Given the description of an element on the screen output the (x, y) to click on. 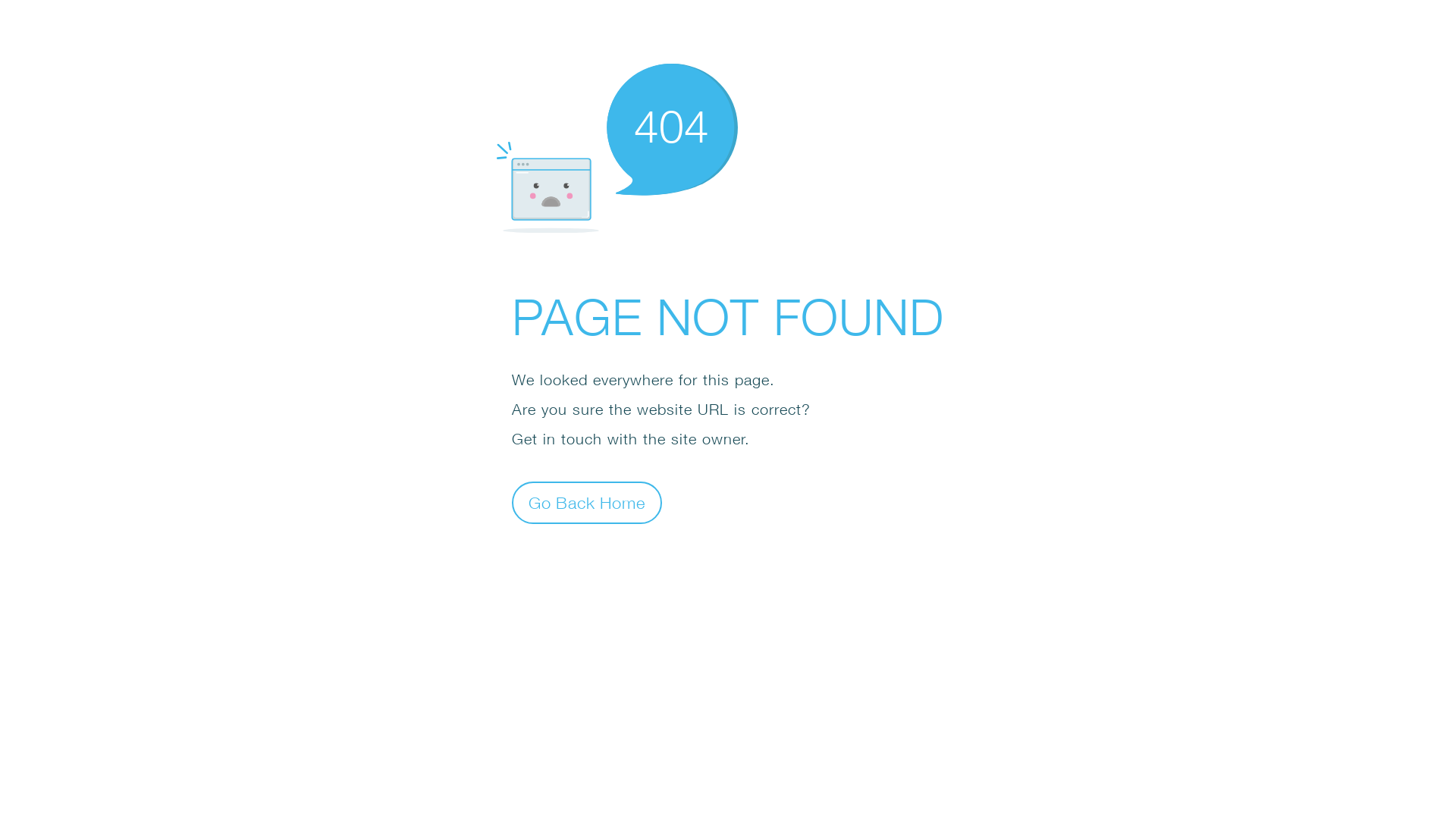
Go Back Home Element type: text (586, 502)
